Given the description of an element on the screen output the (x, y) to click on. 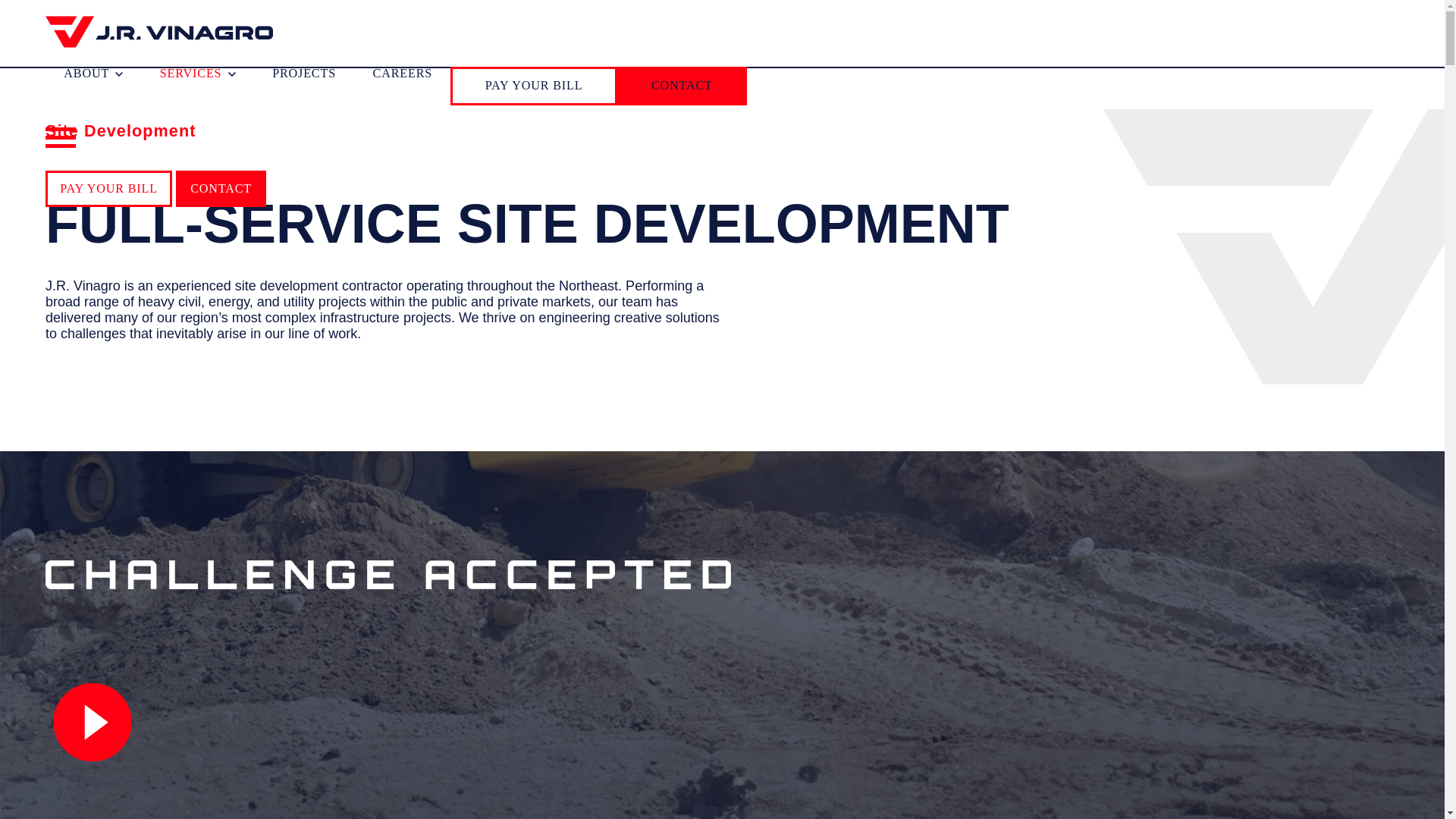
PAY YOUR BILL (108, 188)
CONTACT (681, 85)
PAY YOUR BILL (533, 85)
CAREERS (402, 73)
SERVICES (197, 73)
PROJECTS (304, 73)
CONTACT (221, 188)
ABOUT (93, 73)
